Given the description of an element on the screen output the (x, y) to click on. 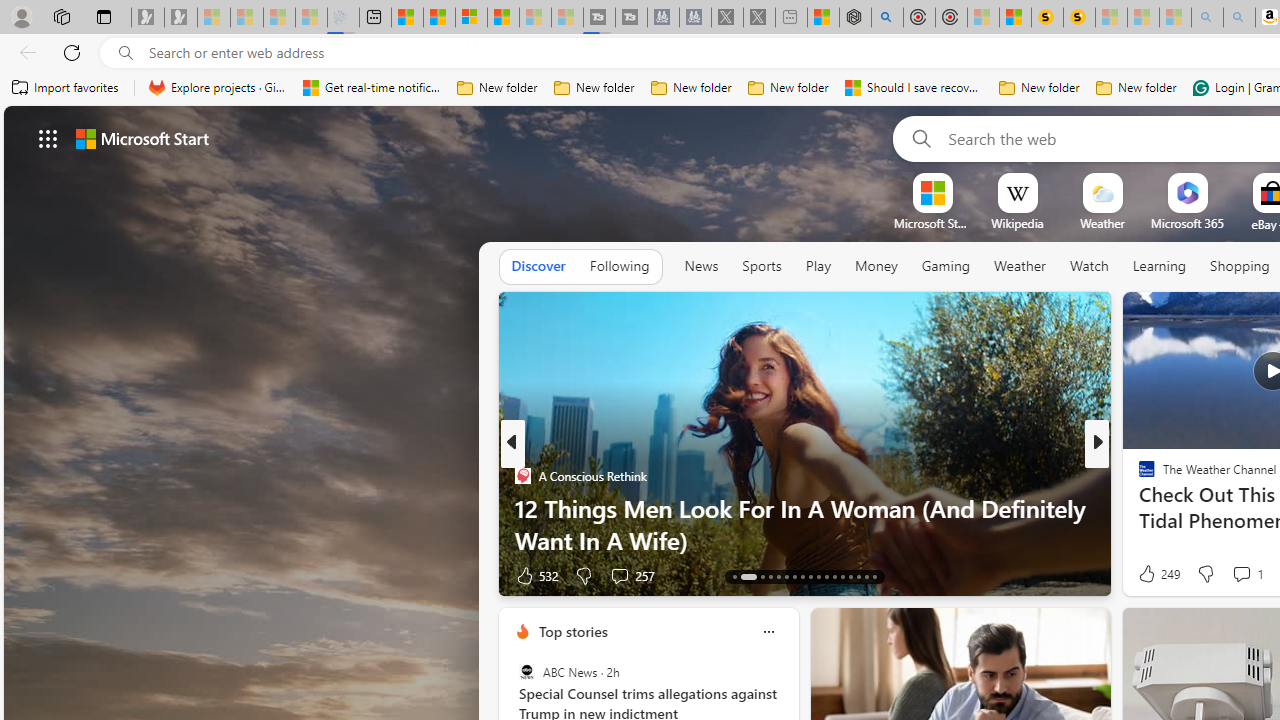
Bolde Media (1138, 475)
View comments 1 Comment (1247, 574)
Verywell Mind (1138, 507)
Microsoft start (142, 138)
AutomationID: tab-16 (769, 576)
117 Like (1151, 574)
Newsweek (1138, 475)
60 Like (1149, 574)
AutomationID: tab-21 (810, 576)
